Given the description of an element on the screen output the (x, y) to click on. 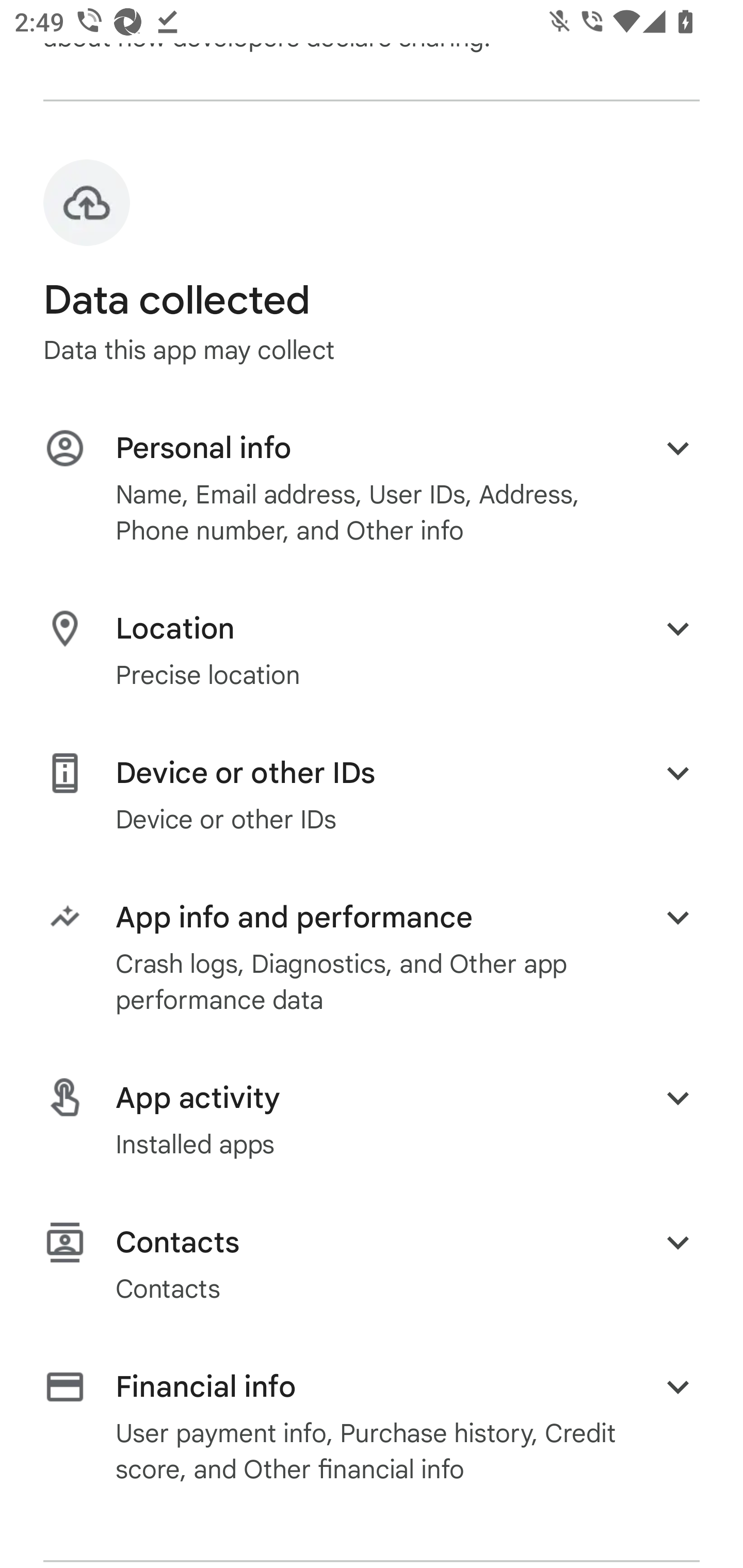
heading Location Precise location Expand button (371, 649)
heading App activity Installed apps Expand button (371, 1120)
heading Contacts Contacts Expand button (371, 1264)
